Given the description of an element on the screen output the (x, y) to click on. 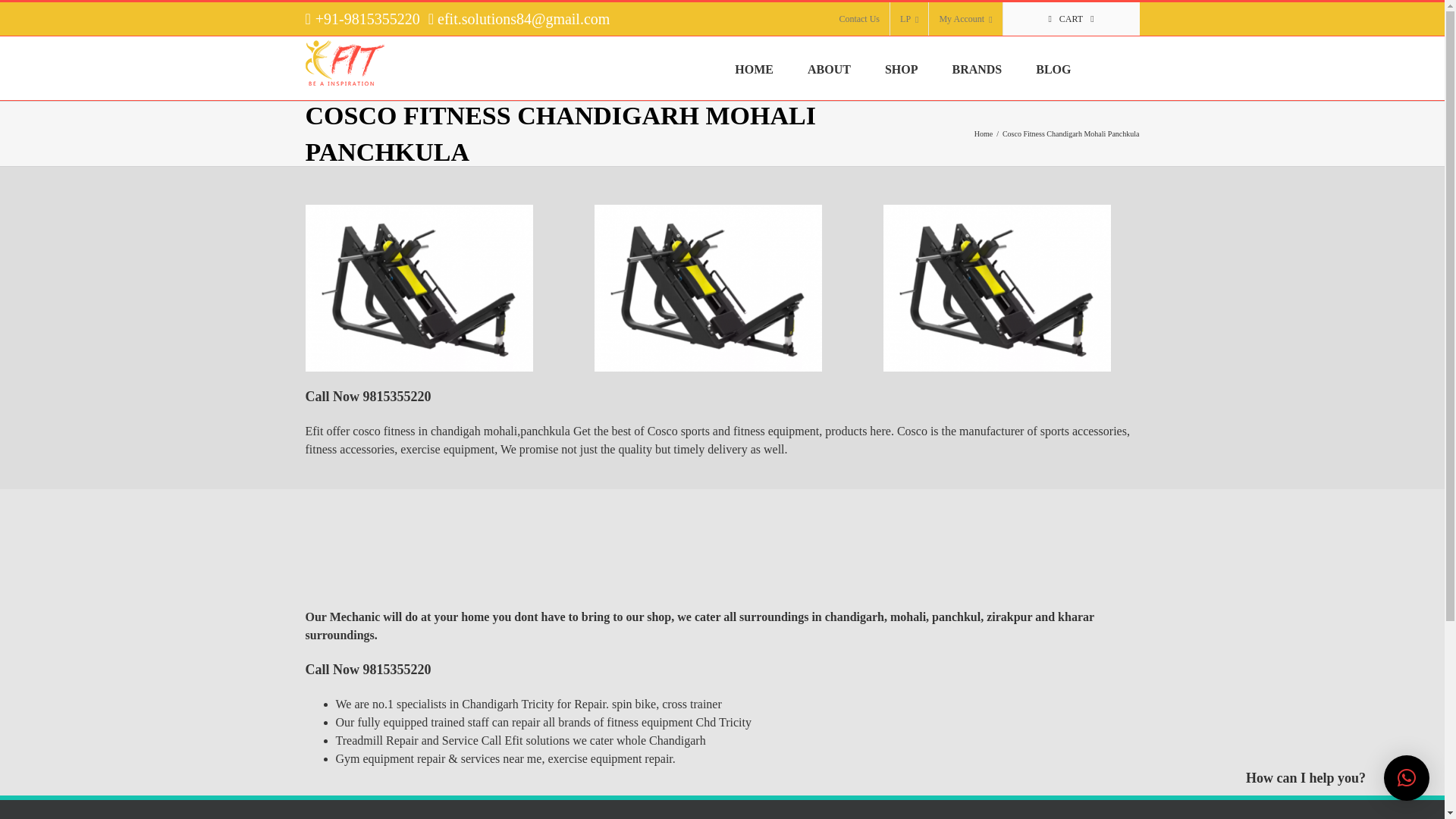
My Account (964, 19)
LP (908, 19)
saleimg (708, 287)
Contact Us (858, 19)
saleimg (418, 287)
saleimg (996, 287)
Log In (954, 146)
CART (1071, 19)
